Given the description of an element on the screen output the (x, y) to click on. 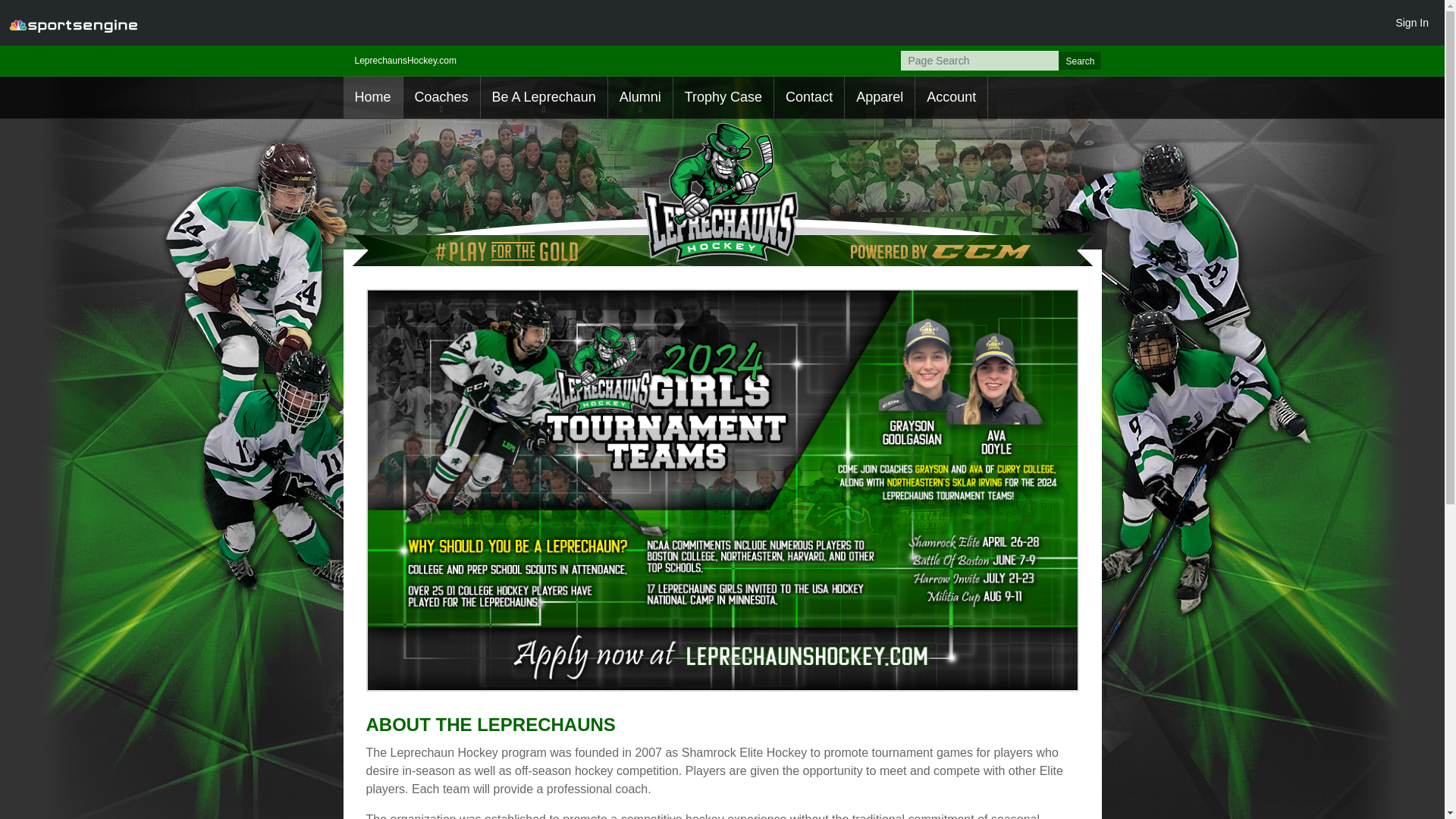
Apparel (879, 96)
SportsEngine (73, 22)
Account (951, 96)
click to go to 'Coaches' (441, 96)
click to go to 'Contact Us' (809, 96)
click to go to 'Home' (371, 96)
Coaches (441, 96)
Contact (809, 96)
Account (951, 96)
click to go to 'Alumni' (640, 96)
Home (371, 96)
Trophy Case (722, 96)
Sign In (1411, 22)
click to go to 'Trophy Case' (722, 96)
click to go to 'Be A Leprechaun' (543, 96)
